Given the description of an element on the screen output the (x, y) to click on. 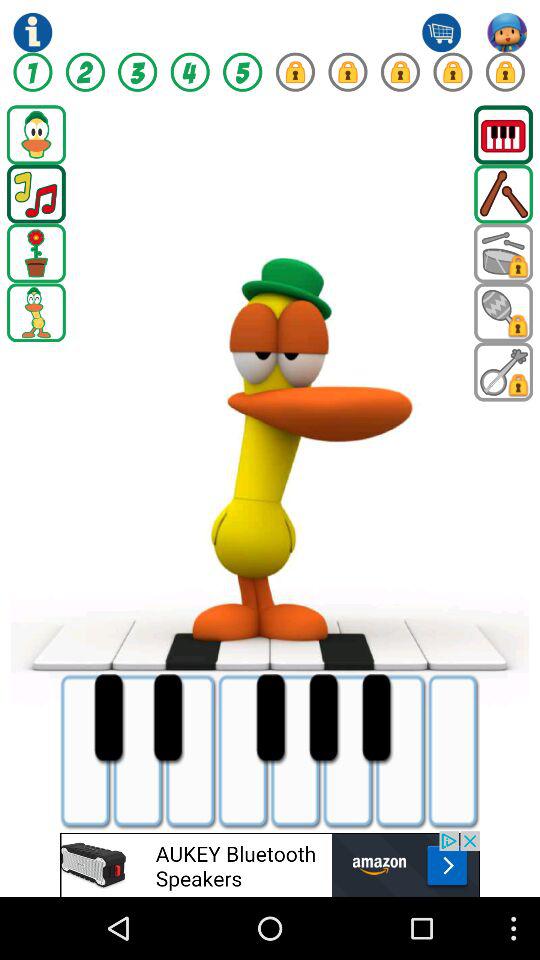
play music button (36, 193)
